Given the description of an element on the screen output the (x, y) to click on. 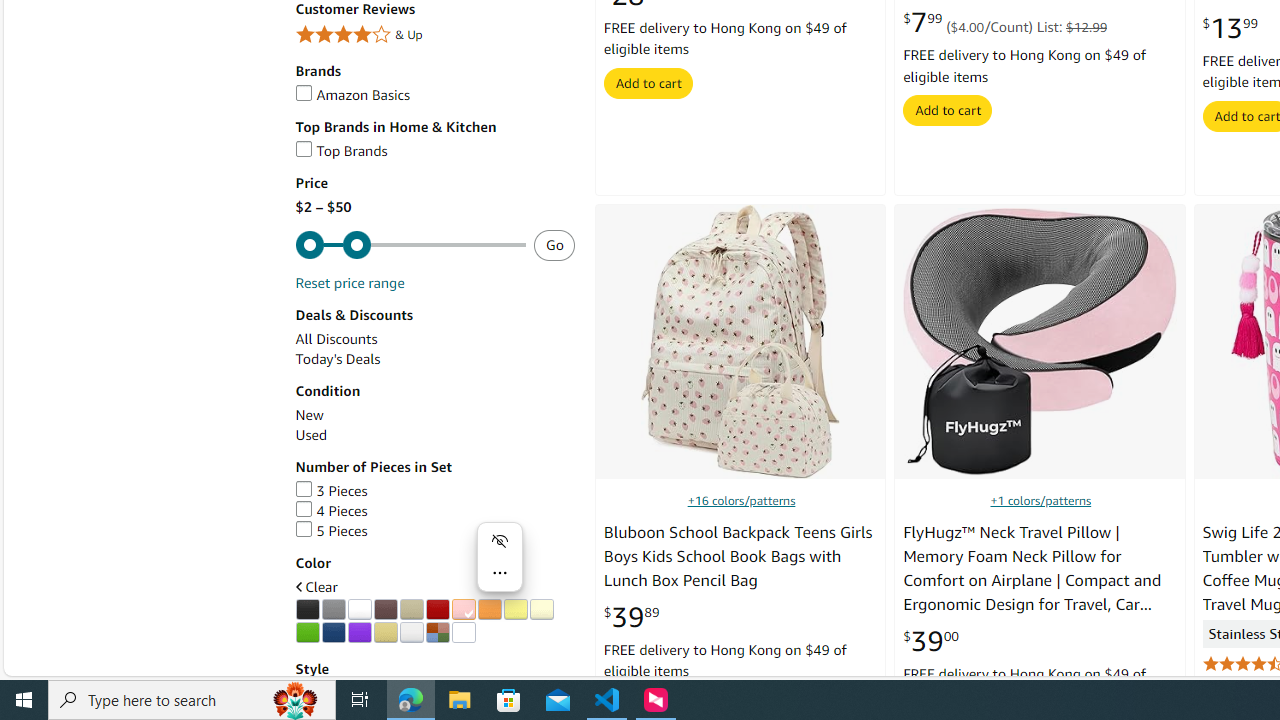
Silver (411, 632)
Gold (385, 632)
Used (434, 435)
